Given the description of an element on the screen output the (x, y) to click on. 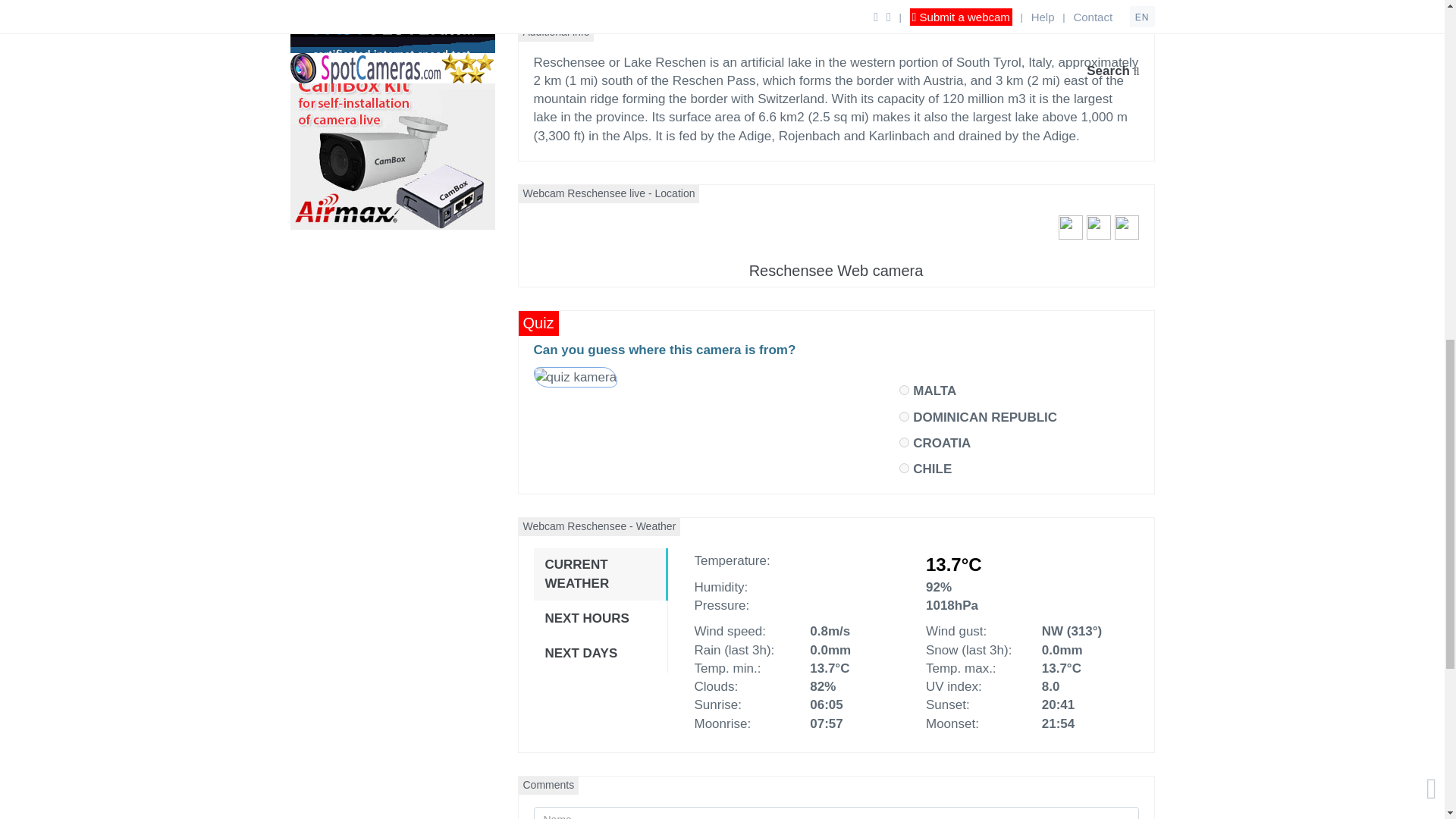
quiz kamera (574, 377)
f (903, 442)
f (903, 416)
speedtest (392, 31)
f (903, 389)
t (903, 468)
